Given the description of an element on the screen output the (x, y) to click on. 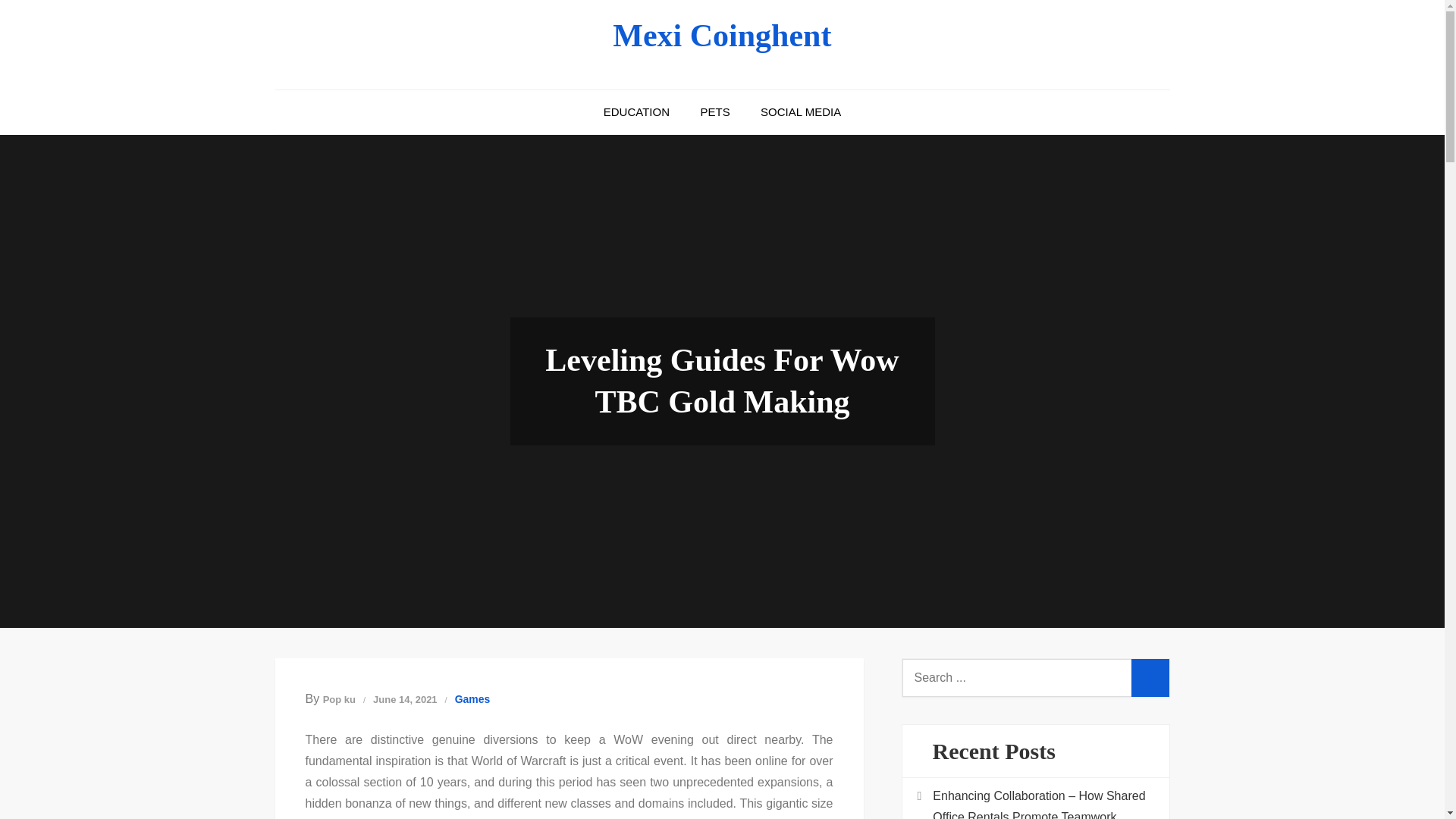
EDUCATION (635, 112)
SOCIAL MEDIA (800, 112)
Mexi Coinghent (721, 35)
Pop ku (339, 699)
Search for: (1035, 677)
Search (1150, 677)
PETS (713, 112)
June 14, 2021 (405, 699)
Games (472, 699)
